Given the description of an element on the screen output the (x, y) to click on. 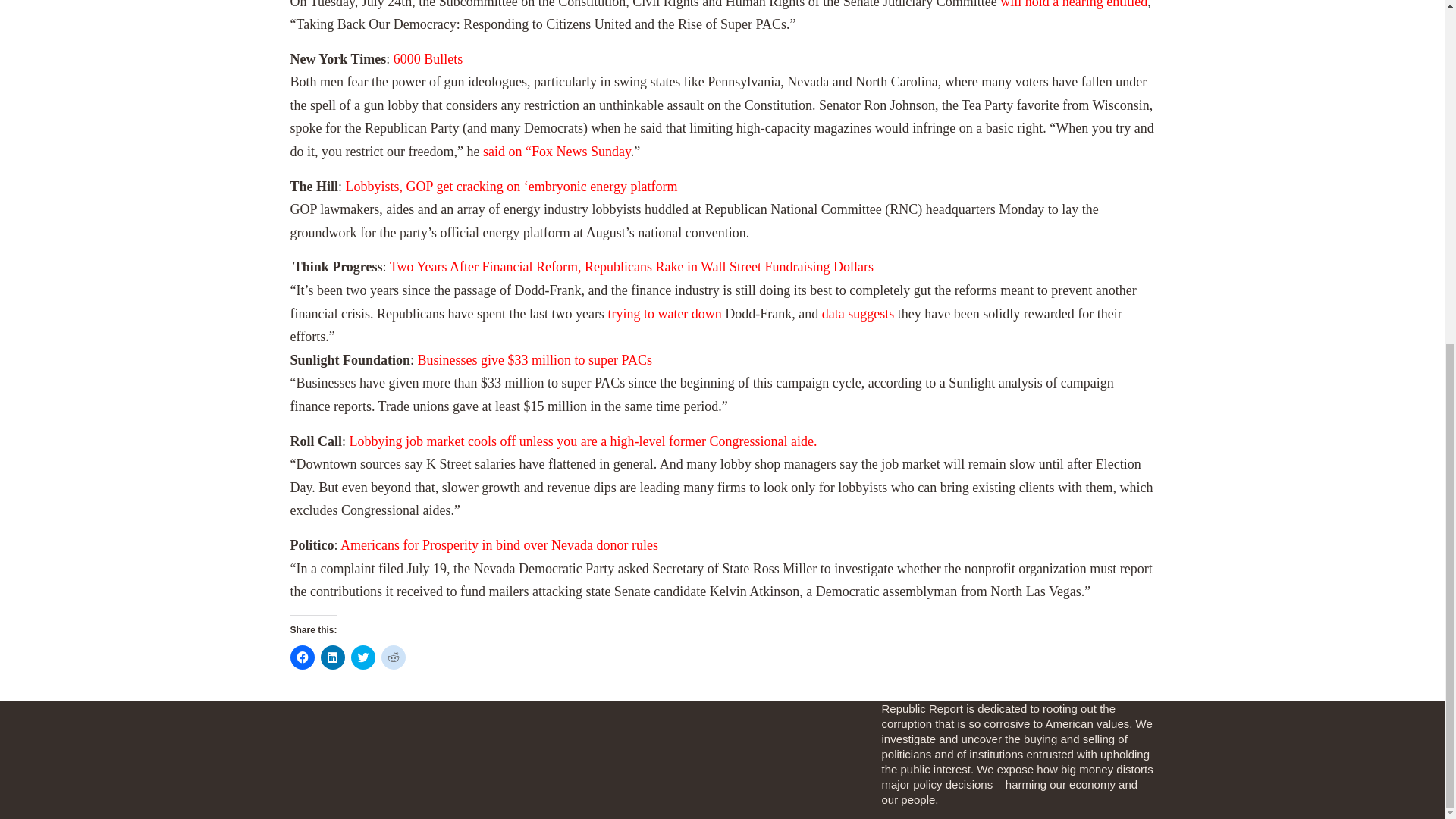
Americans for Prosperity in bind over Nevada donor rules (499, 544)
trying to water down (663, 313)
Click to share on Reddit (392, 657)
Click to share on LinkedIn (331, 657)
Click to share on Facebook (301, 657)
6000 Bullets (428, 58)
Click to share on Twitter (362, 657)
data suggests (857, 313)
